Given the description of an element on the screen output the (x, y) to click on. 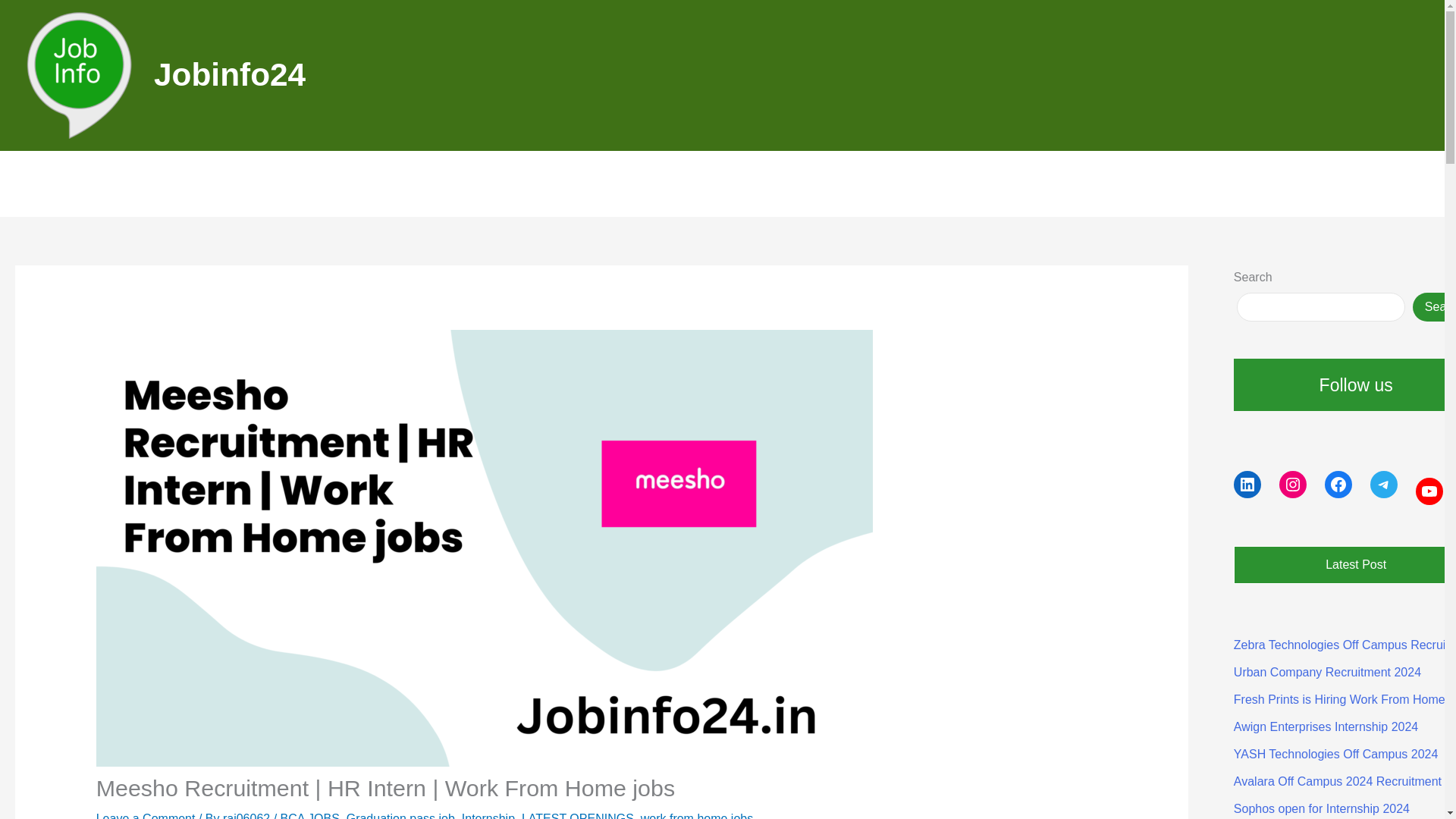
View all posts by raj06062 (247, 815)
work from home jobs (697, 815)
Work From Home Jobs (746, 183)
Graduation Pass Job (567, 183)
Jobinfo24 (229, 74)
Graduation pass job (400, 815)
Internship (488, 815)
raj06062 (247, 815)
Software Developer Job (936, 183)
Leave a Comment (145, 815)
